Given the description of an element on the screen output the (x, y) to click on. 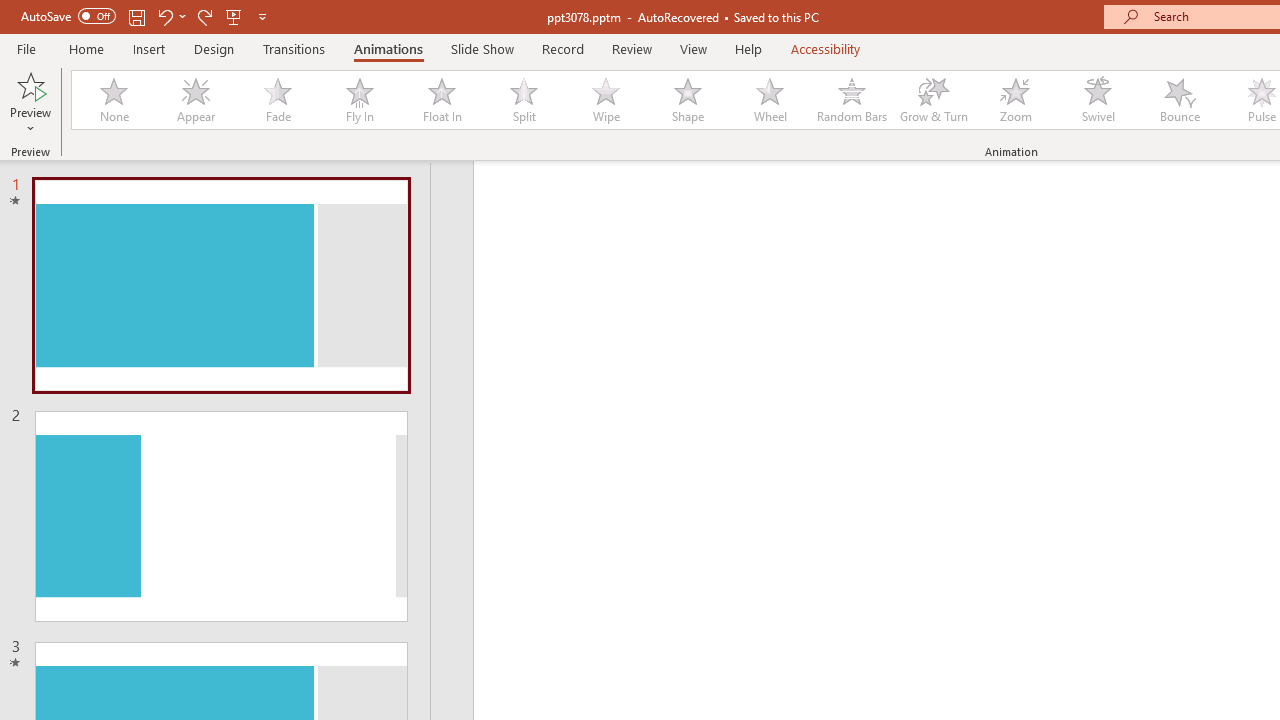
Random Bars (852, 100)
Fly In (359, 100)
Float In (441, 100)
